Given the description of an element on the screen output the (x, y) to click on. 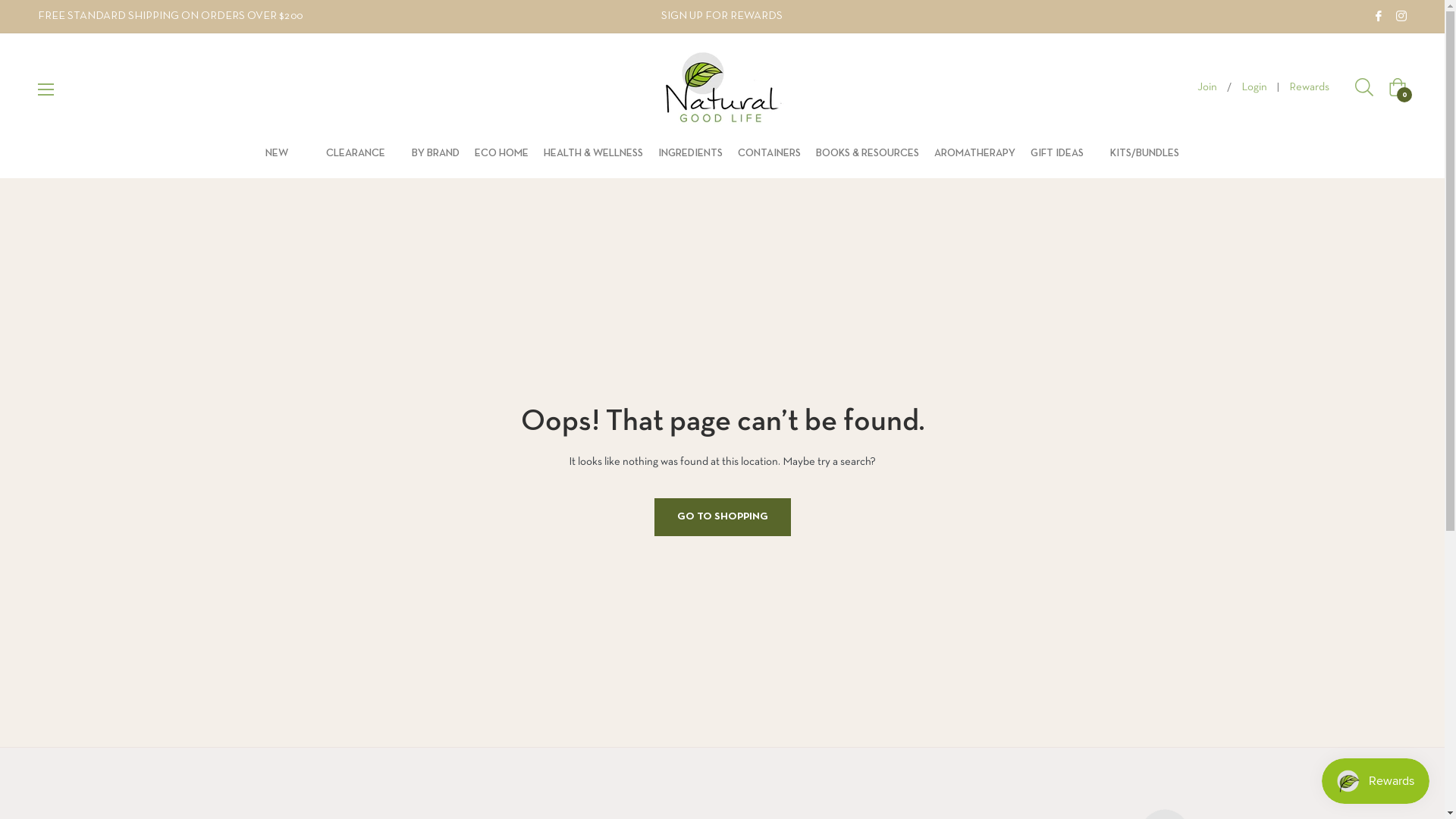
Login Element type: text (1253, 87)
SIGN UP FOR REWARDS Element type: text (721, 15)
KITS/BUNDLES Element type: text (1144, 153)
INGREDIENTS Element type: text (690, 153)
Natural Good Life on Facebook Element type: hover (1378, 15)
BOOKS & RESOURCES Element type: text (867, 153)
GIFT IDEAS Element type: text (1056, 153)
CLEARANCE Element type: text (355, 153)
ECO HOME Element type: text (501, 153)
BY BRAND Element type: text (435, 153)
NEW Element type: text (276, 153)
Smile.io Rewards Program Launcher Element type: hover (1375, 780)
CONTAINERS Element type: text (769, 153)
Natural Good Life on Instagram Element type: hover (1401, 15)
HEALTH & WELLNESS Element type: text (593, 153)
Join Element type: text (1206, 87)
AROMATHERAPY Element type: text (974, 153)
GO TO SHOPPING Element type: text (721, 517)
Rewards Element type: text (1308, 87)
